Given the description of an element on the screen output the (x, y) to click on. 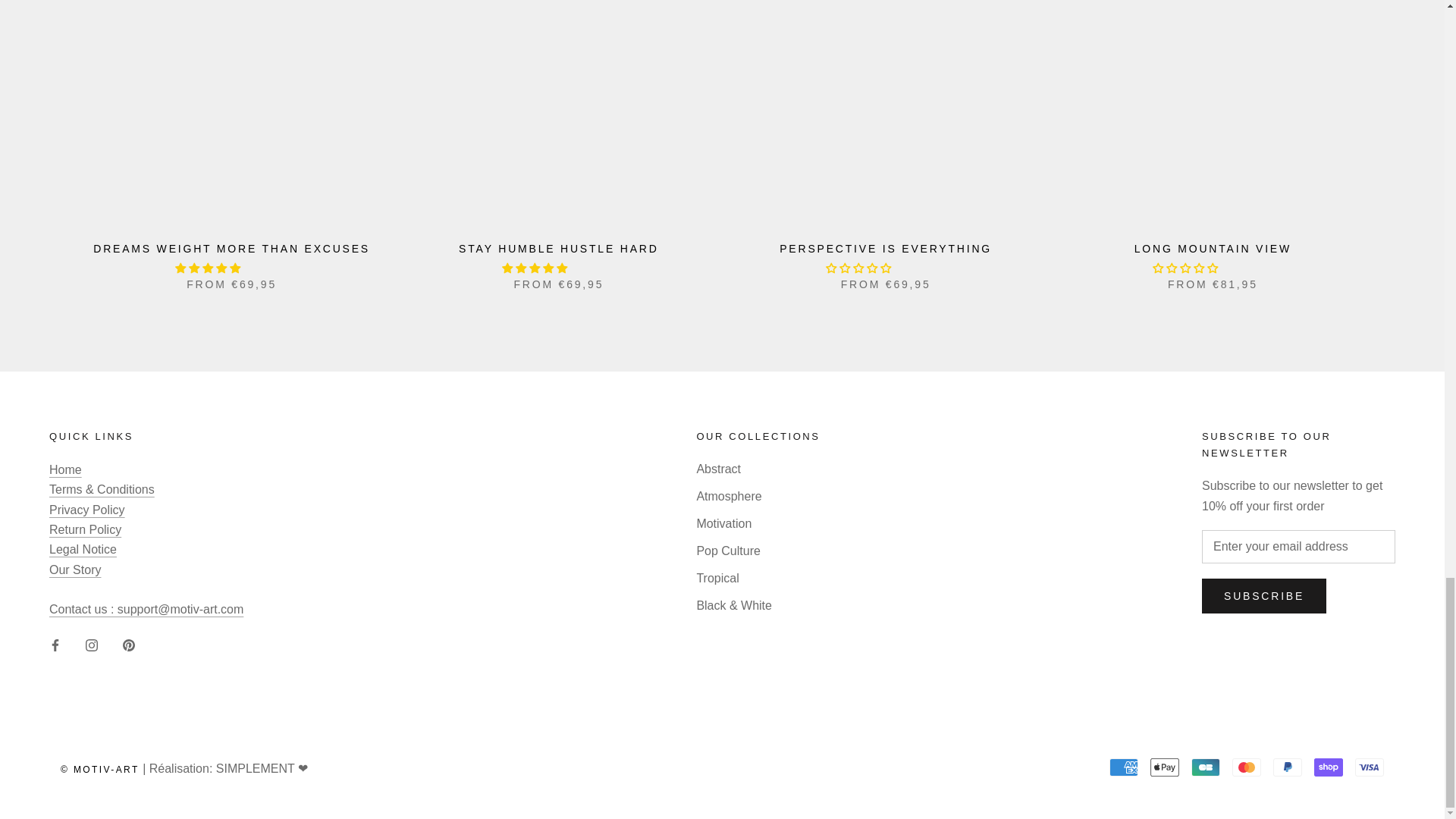
creation site internet marseille (261, 768)
Our Story (74, 569)
